Given the description of an element on the screen output the (x, y) to click on. 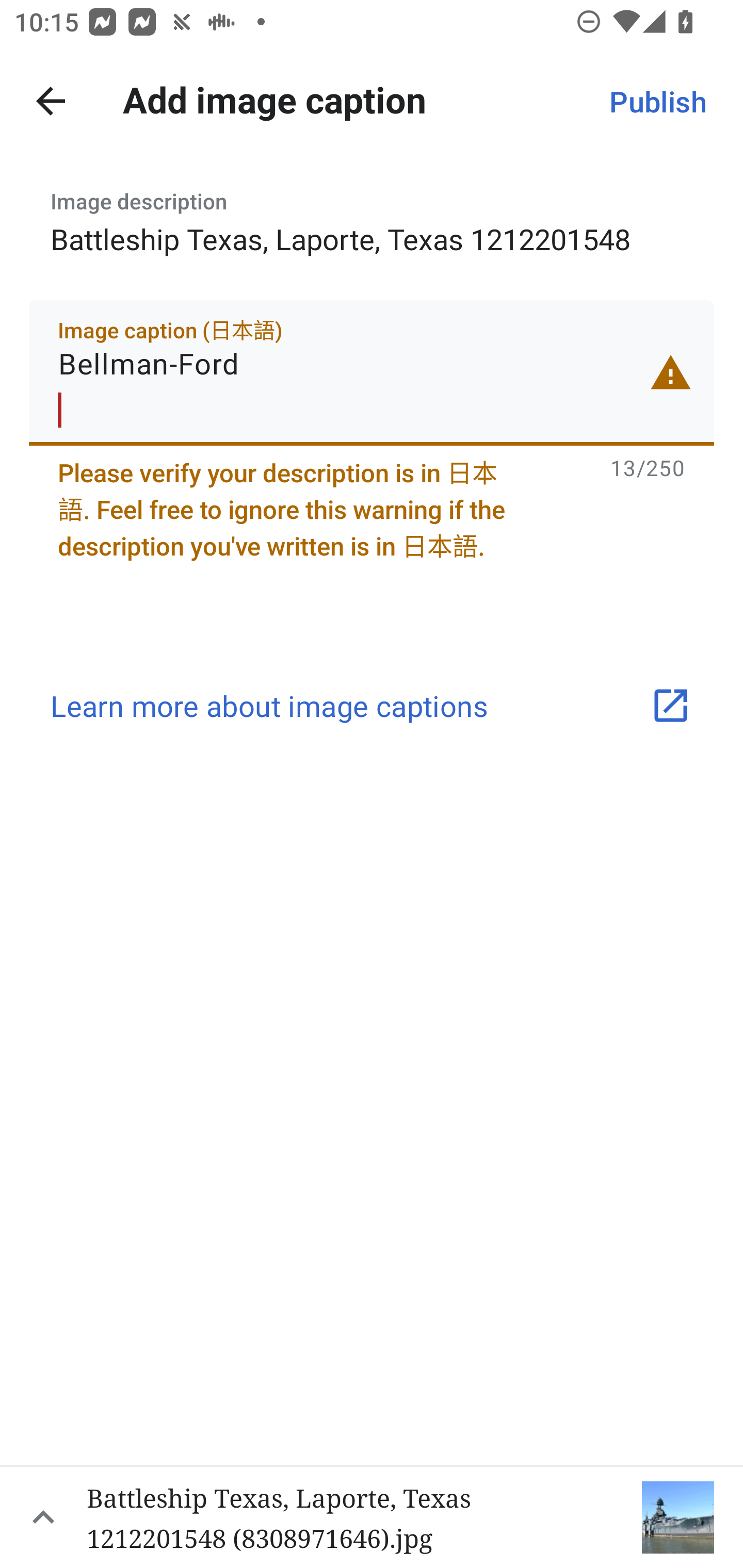
Cancel (50, 101)
Publish (657, 101)
Bellman-Ford
 (371, 372)
Learn more about image captions (371, 705)
